Given the description of an element on the screen output the (x, y) to click on. 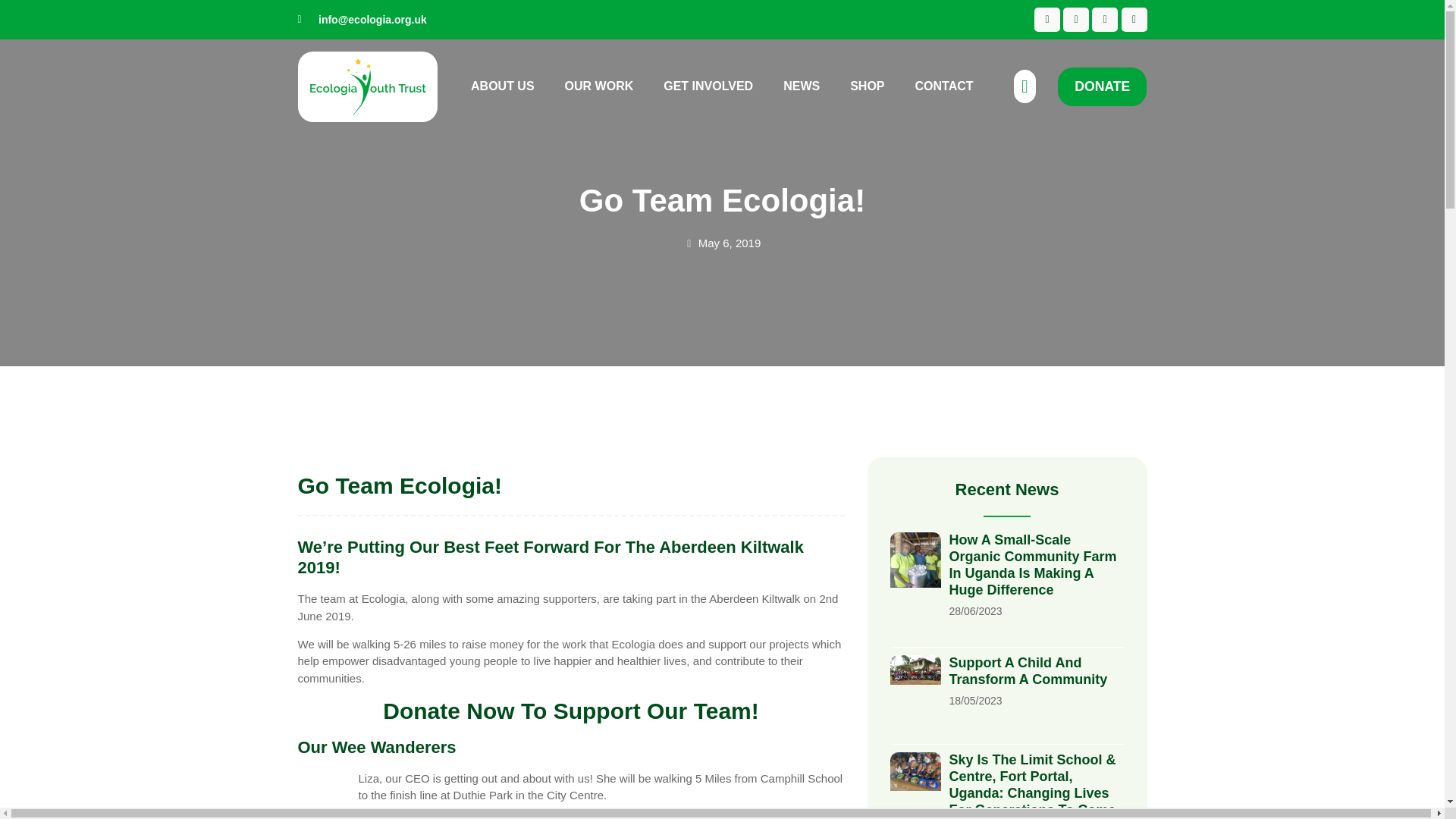
NEWS (801, 85)
Support A Child And Transform A Community (1027, 671)
Donate Now To Support Our Team! (570, 710)
CONTACT (944, 85)
May 6, 2019 (722, 243)
DONATE (1102, 86)
GET INVOLVED (708, 85)
SHOP (866, 85)
ABOUT US (503, 85)
